Given the description of an element on the screen output the (x, y) to click on. 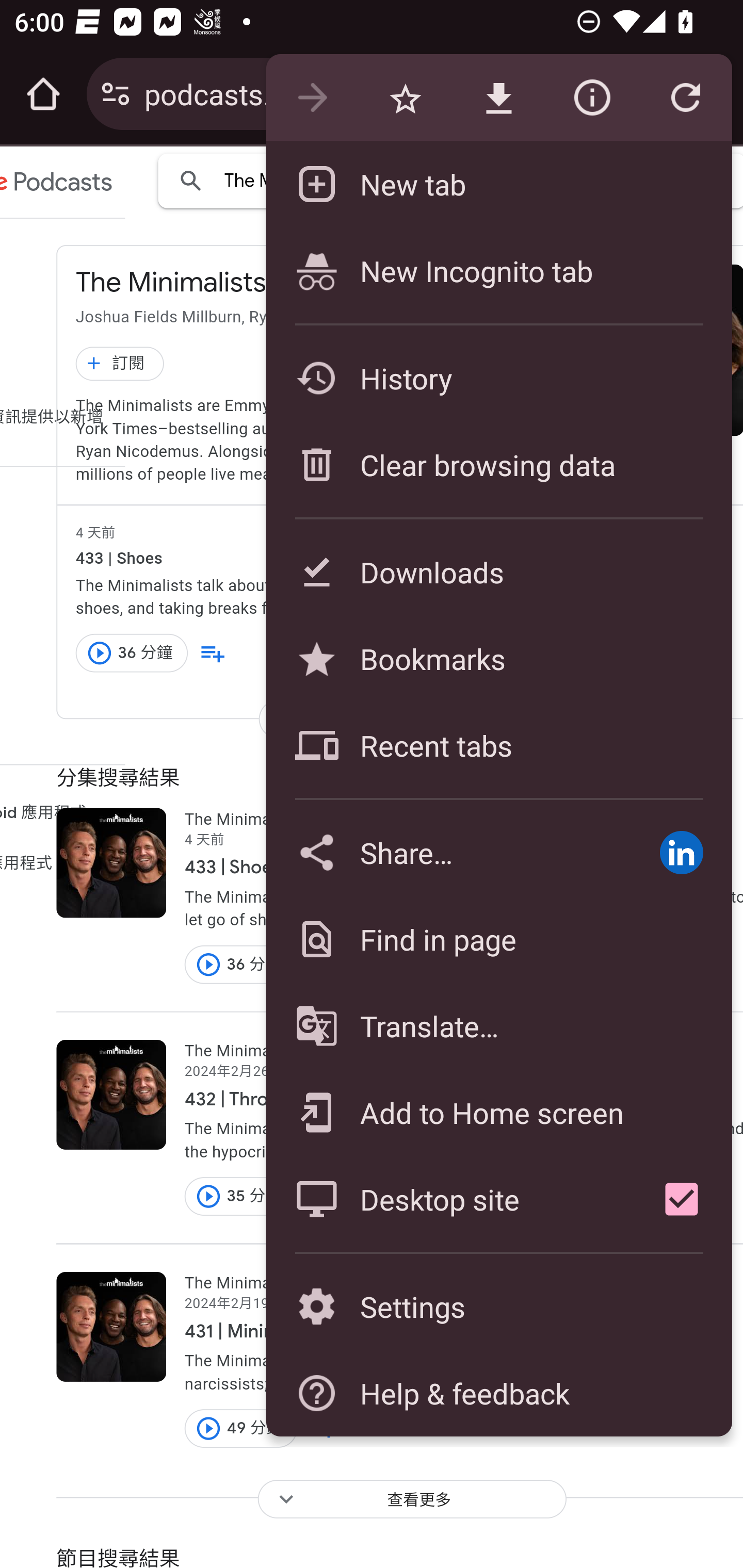
Forward (311, 97)
Bookmark (404, 97)
Download (498, 97)
Page info (591, 97)
Refresh (684, 97)
New tab (498, 184)
New Incognito tab (498, 270)
History (498, 377)
Clear browsing data (498, 464)
Downloads (498, 571)
Bookmarks (498, 658)
Recent tabs (498, 745)
Share… (447, 852)
Share via Share in a post (680, 852)
Find in page (498, 939)
Translate… (498, 1026)
Add to Home screen (498, 1112)
Desktop site Turn off Request desktop site (447, 1198)
Settings (498, 1306)
Help & feedback (498, 1393)
